Given the description of an element on the screen output the (x, y) to click on. 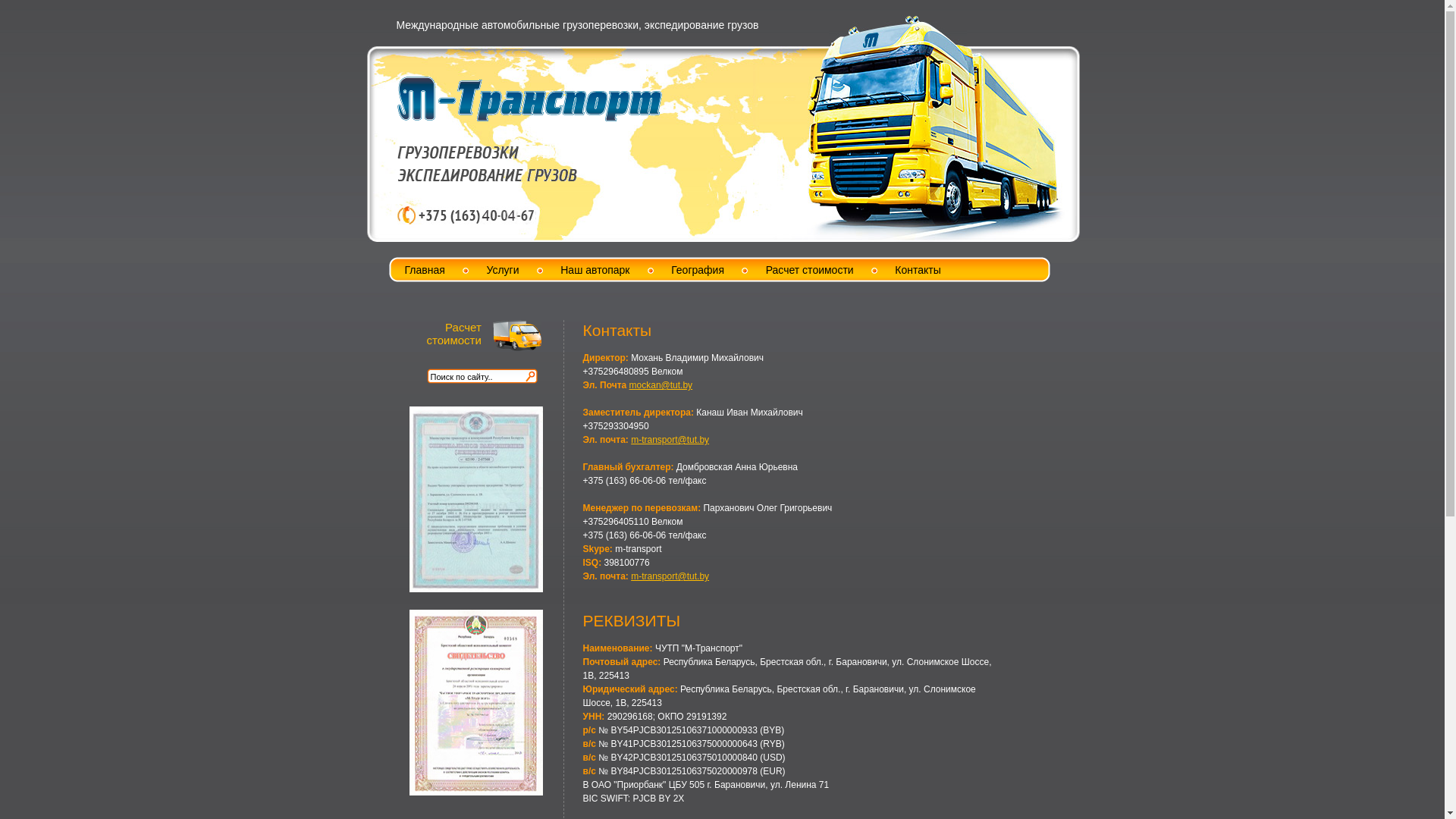
mockan@tut.by Element type: text (661, 384)
m-transport@tut.by Element type: text (669, 576)
m-transport@tut.by Element type: text (669, 439)
